Given the description of an element on the screen output the (x, y) to click on. 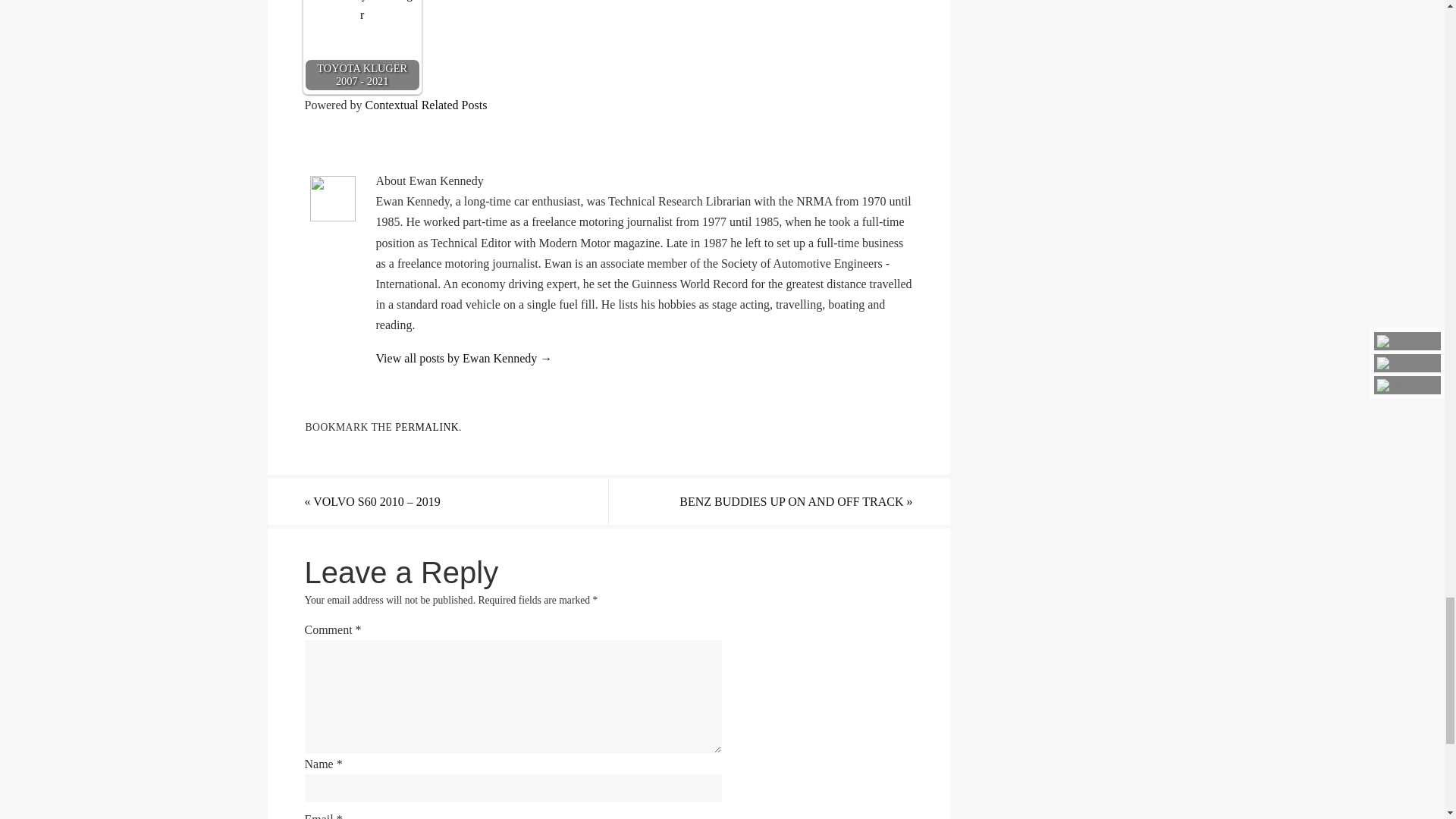
TOYOTA KLUGER 2007 - 2021 (362, 46)
TOYOTA KLUGER 2007 - 2021 (362, 48)
PERMALINK (426, 427)
Permalink to 2021 KIA STINGER GT-LINE (426, 427)
Contextual Related Posts (425, 104)
